Given the description of an element on the screen output the (x, y) to click on. 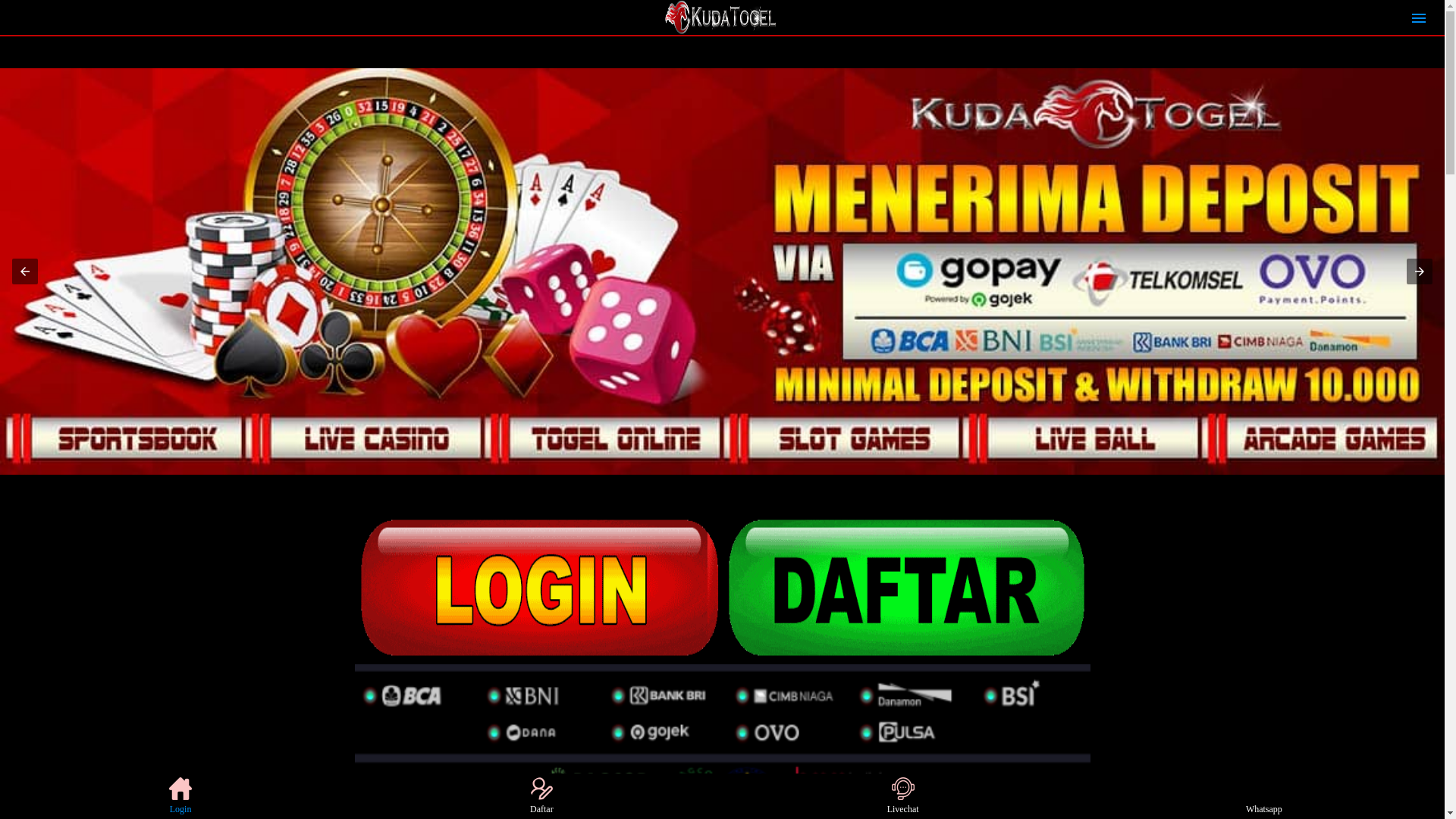
Livechat Element type: text (902, 796)
Login Element type: text (180, 796)
Whatsapp Element type: text (1263, 796)
Daftar Element type: text (541, 796)
Previous item in carousel (2 of 3) Element type: hover (24, 271)
Next item in carousel (1 of 3) Element type: hover (1419, 271)
